Given the description of an element on the screen output the (x, y) to click on. 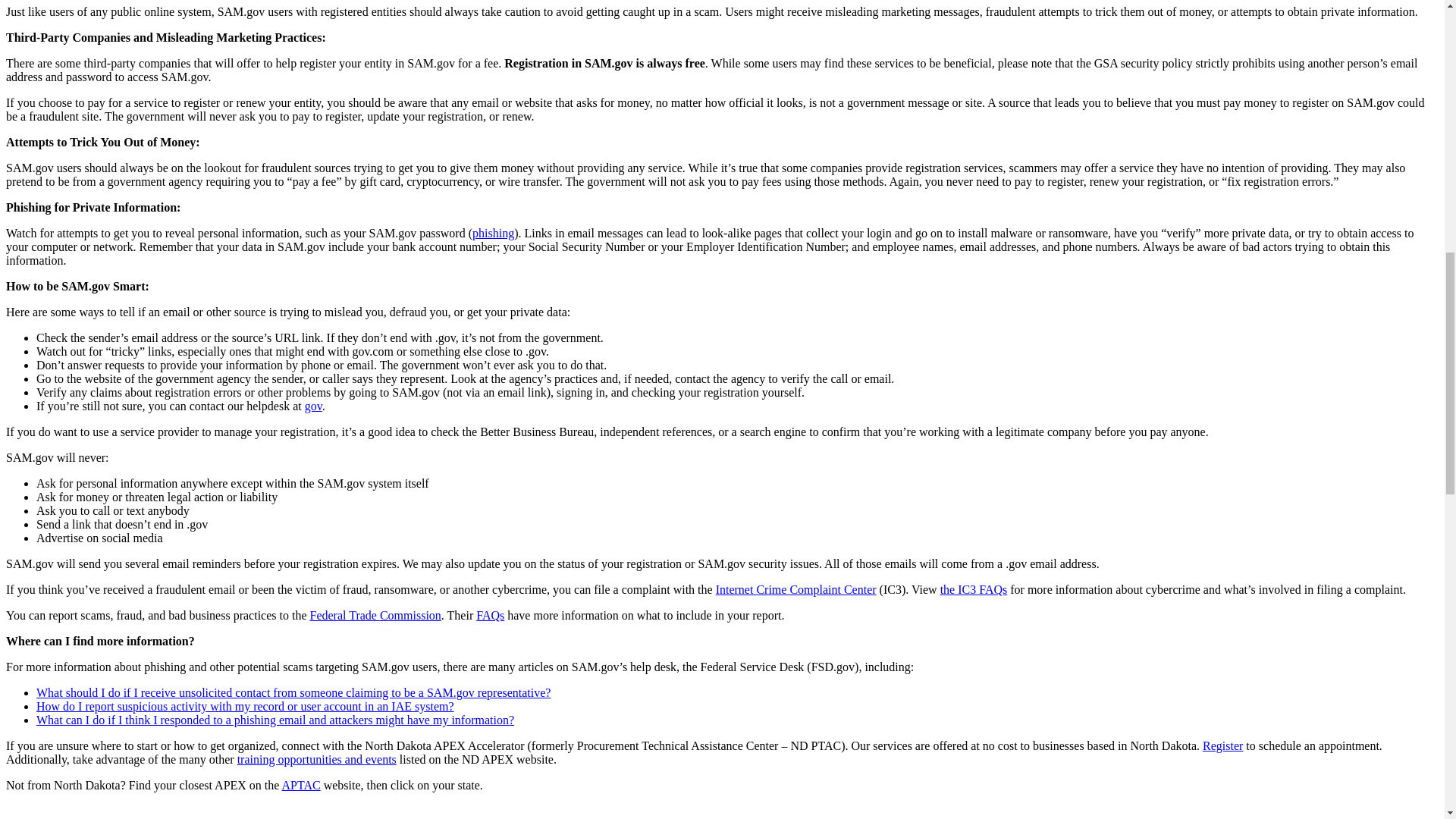
Register (1222, 745)
gov (312, 405)
Federal Trade Commission (374, 615)
phishing (492, 232)
APTAC (301, 784)
the IC3 FAQs (973, 589)
FAQs (489, 615)
